Given the description of an element on the screen output the (x, y) to click on. 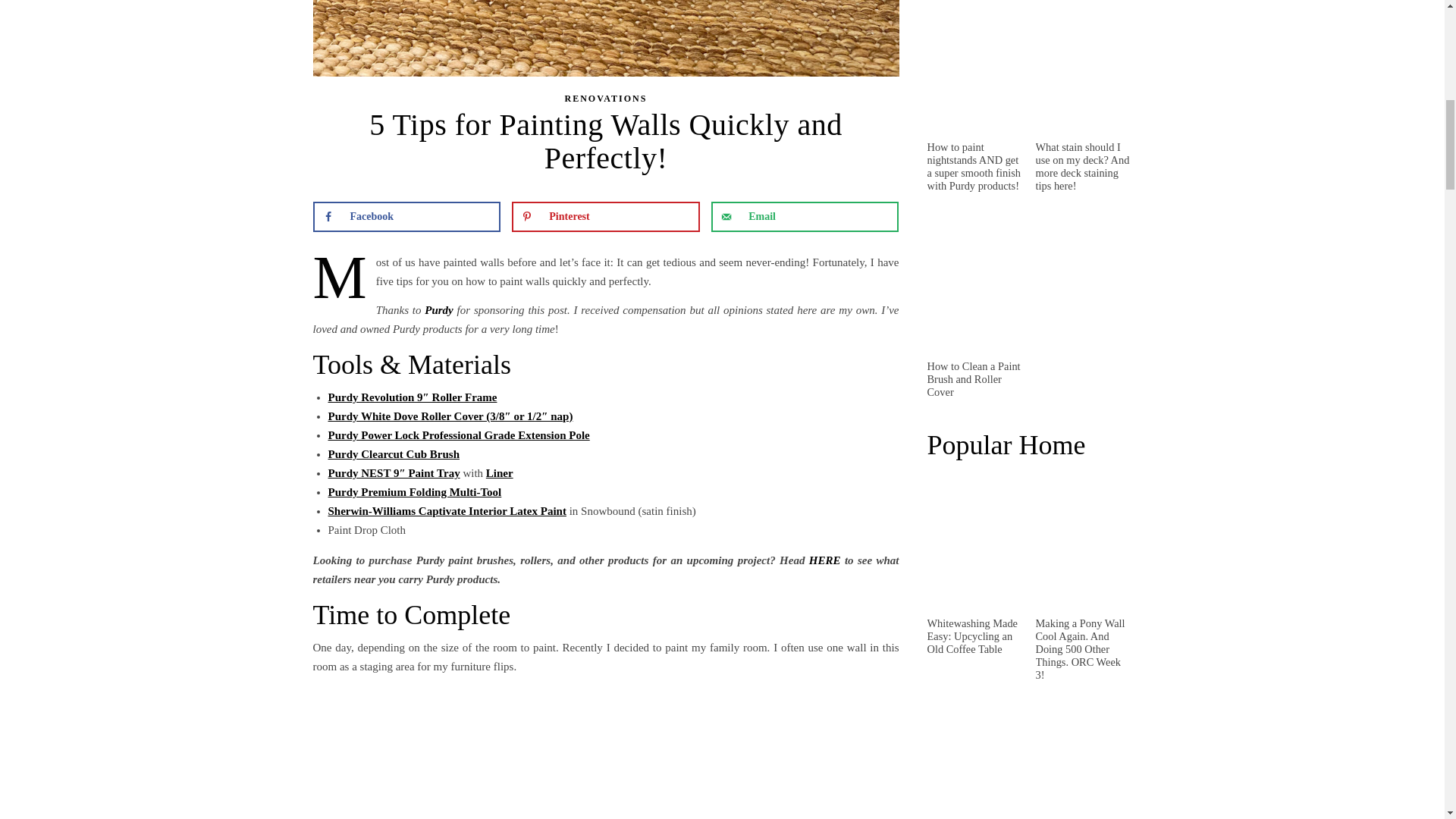
Share on Facebook (406, 216)
RENOVATIONS (605, 98)
Purdy Premium Folding Multi-Tool (413, 491)
 HERE (822, 560)
Facebook (406, 216)
Purdy Power Lock Professional Grade Extension Pole (458, 435)
Purdy (438, 309)
Liner (499, 472)
Save to Pinterest (605, 216)
Sherwin-Williams Captivate Interior Latex Paint (446, 510)
